Given the description of an element on the screen output the (x, y) to click on. 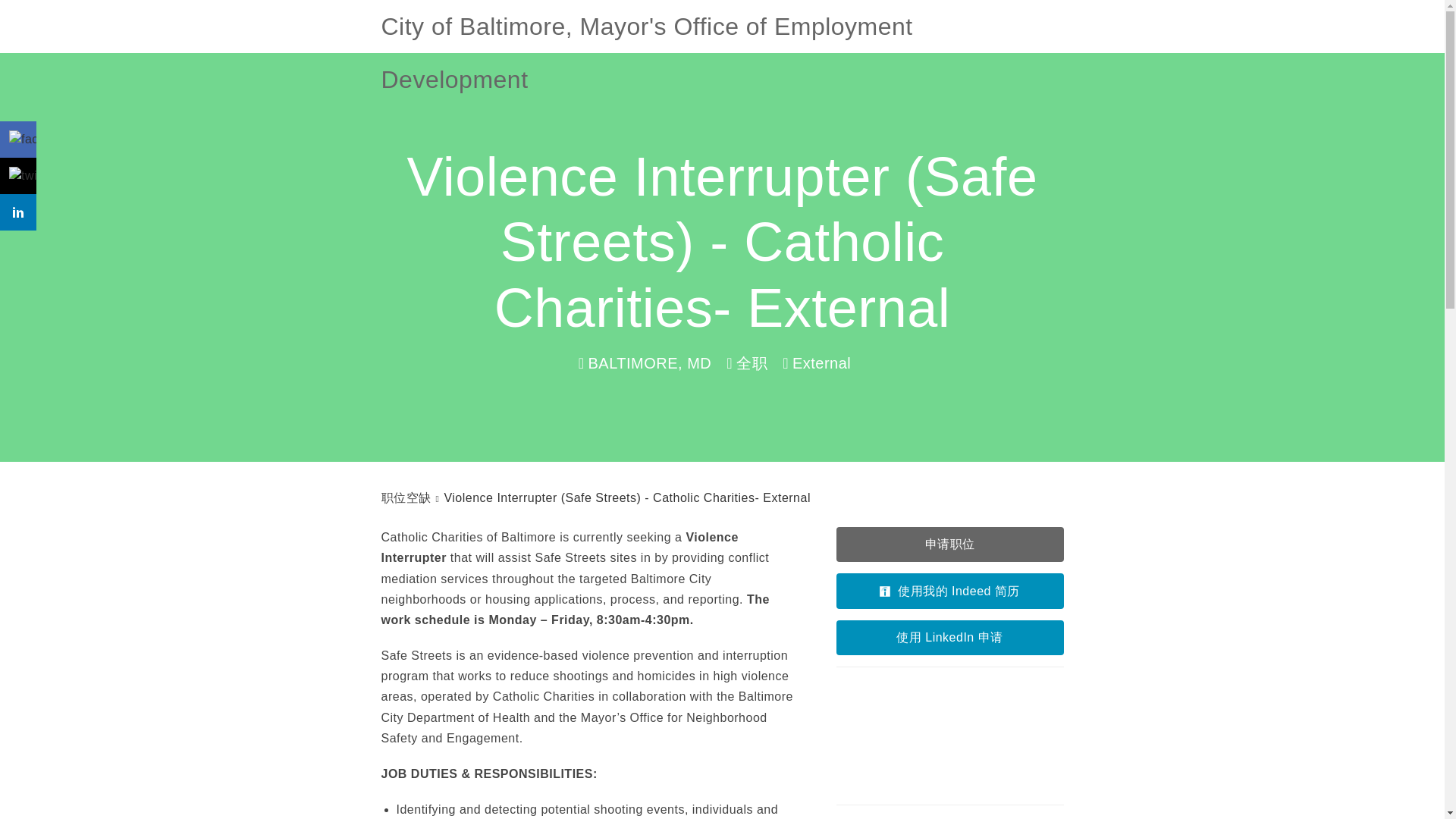
Company location image (948, 735)
City of Baltimore, Mayor's Office of Employment Development (721, 26)
